Given the description of an element on the screen output the (x, y) to click on. 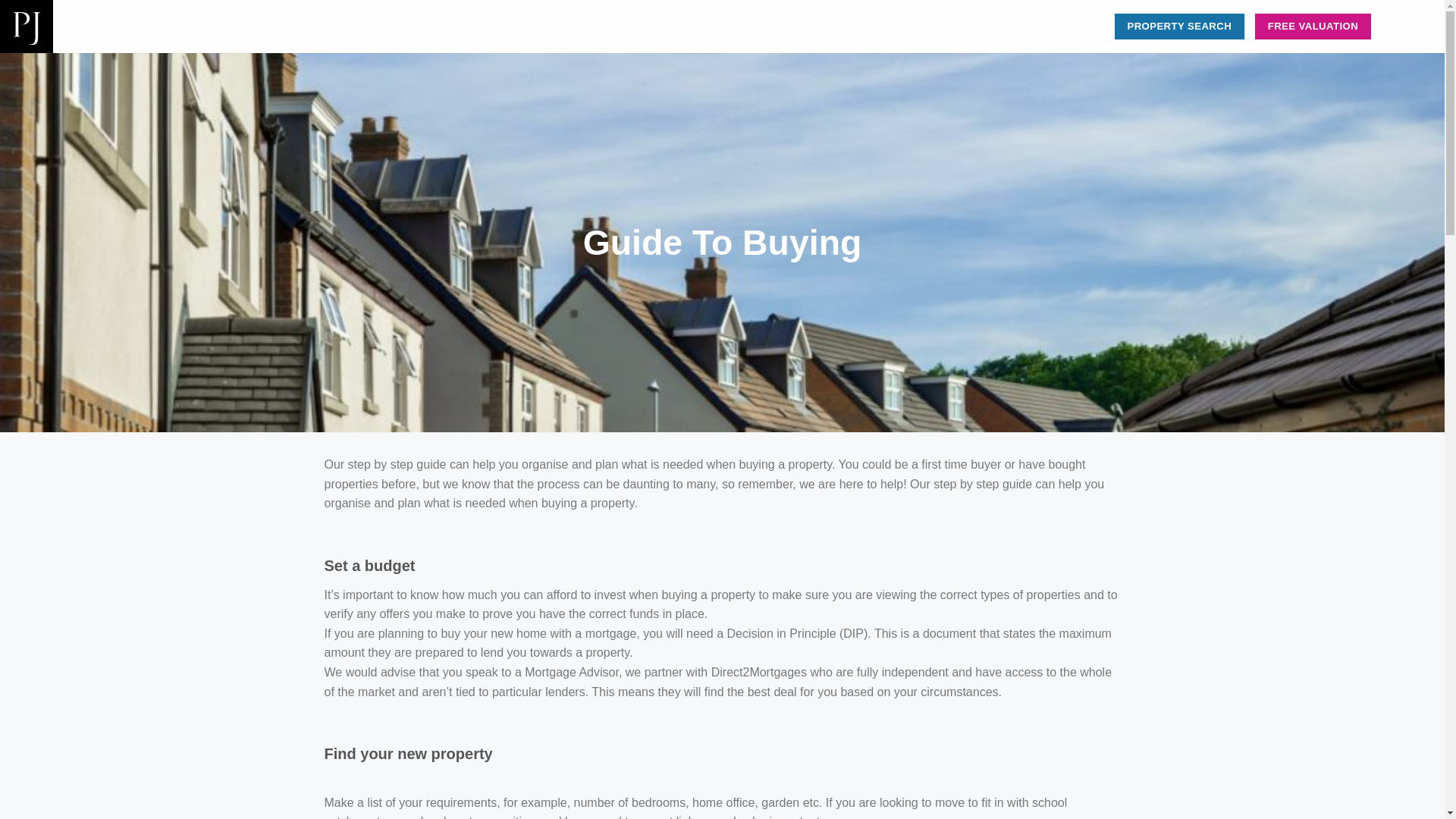
PROPERTY SEARCH (1179, 26)
FREE VALUATION (1313, 26)
Philip James - Homepage (355, 26)
